Given the description of an element on the screen output the (x, y) to click on. 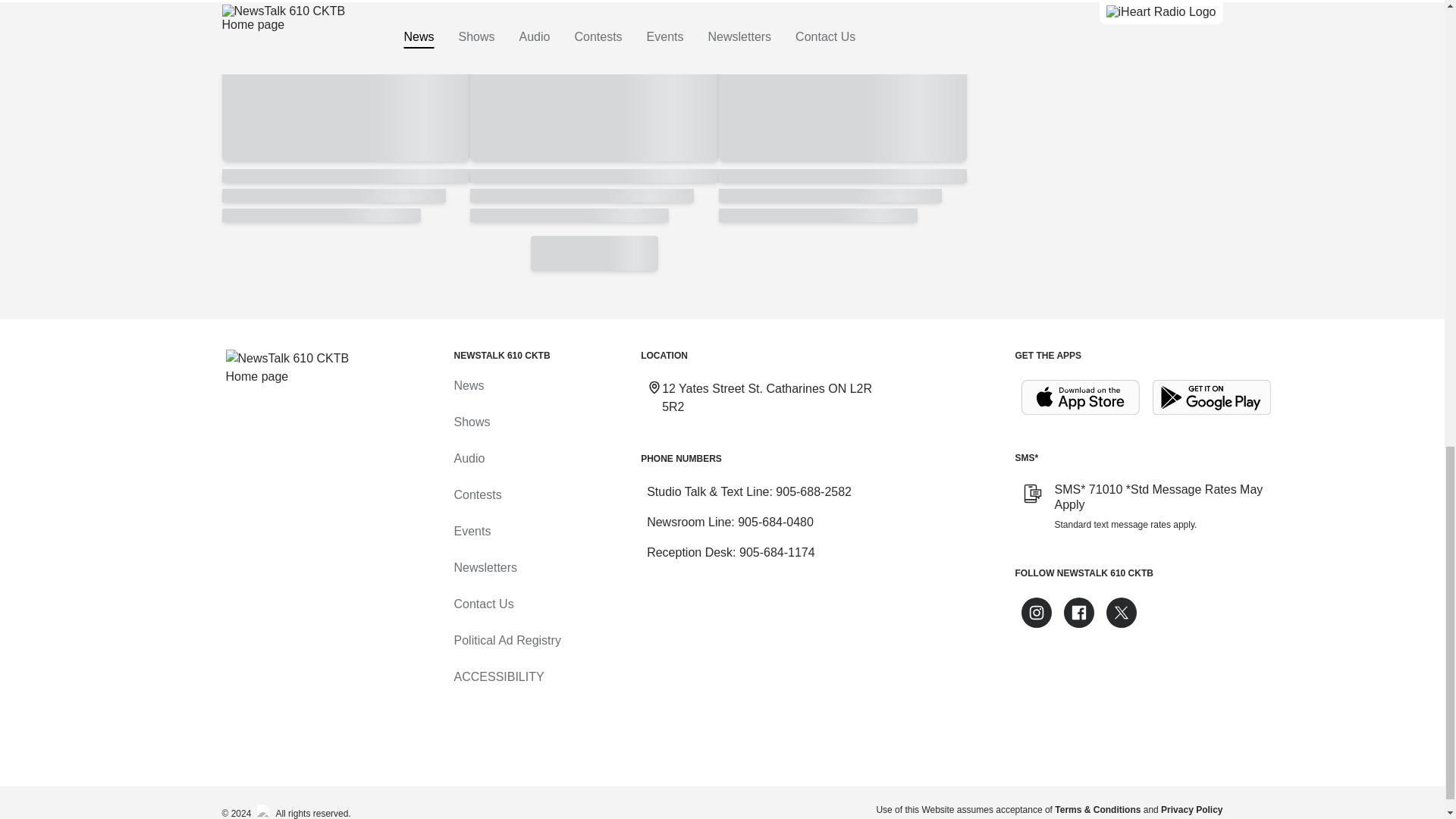
Shows (470, 421)
Contests (476, 494)
Contact Us (482, 603)
905-684-0480 (775, 521)
Get it on Google Play (1212, 397)
905-684-1174 (777, 552)
Privacy Policy (1191, 809)
Accessibility (497, 676)
905-688-2582 (813, 491)
Events (471, 530)
